Given the description of an element on the screen output the (x, y) to click on. 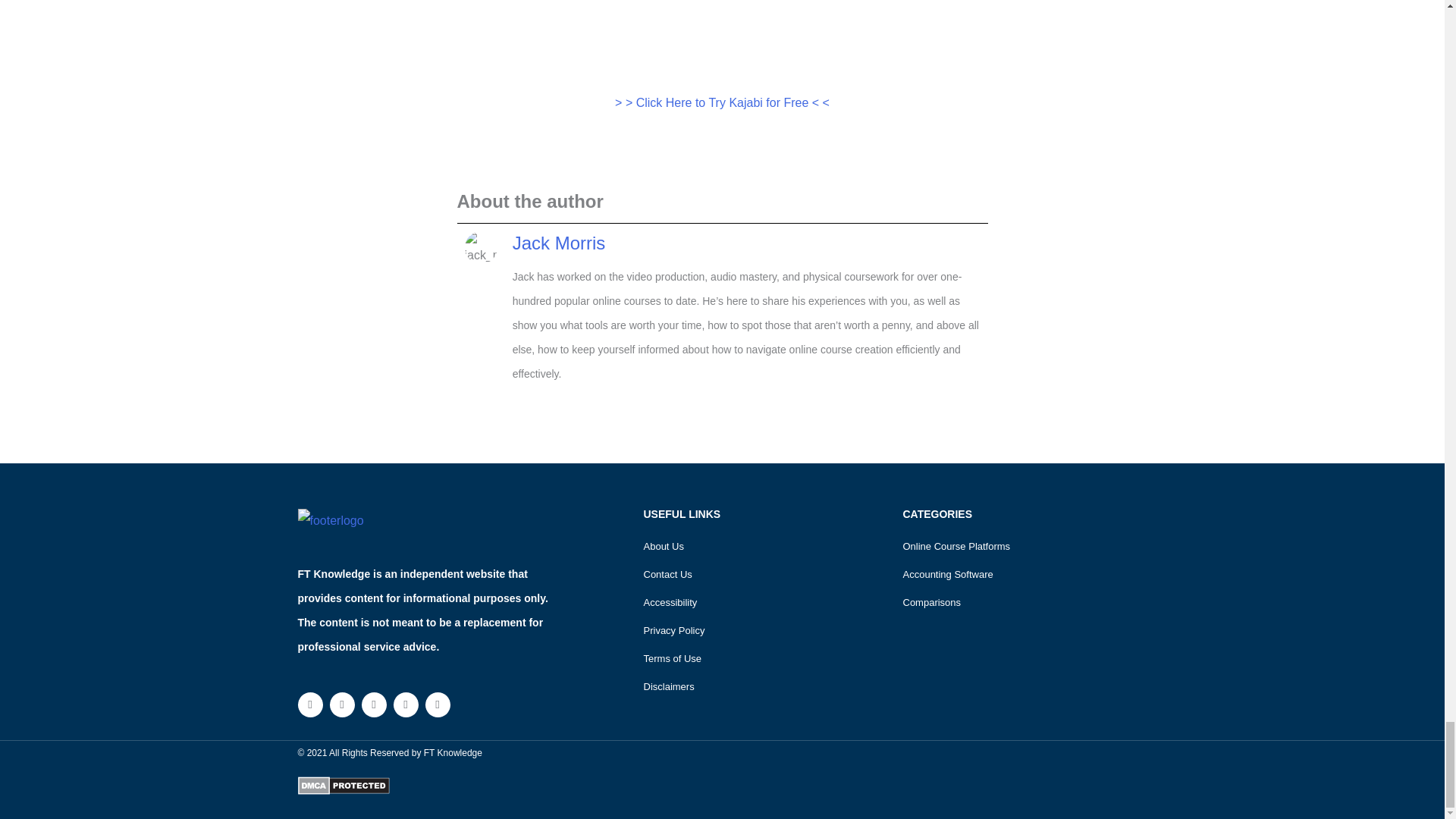
Jack Morris (558, 242)
DMCA.com Protection Status (342, 784)
Kajabi Vs Kartra 2021 (722, 34)
Twitter (341, 704)
Facebook-f (309, 704)
